Given the description of an element on the screen output the (x, y) to click on. 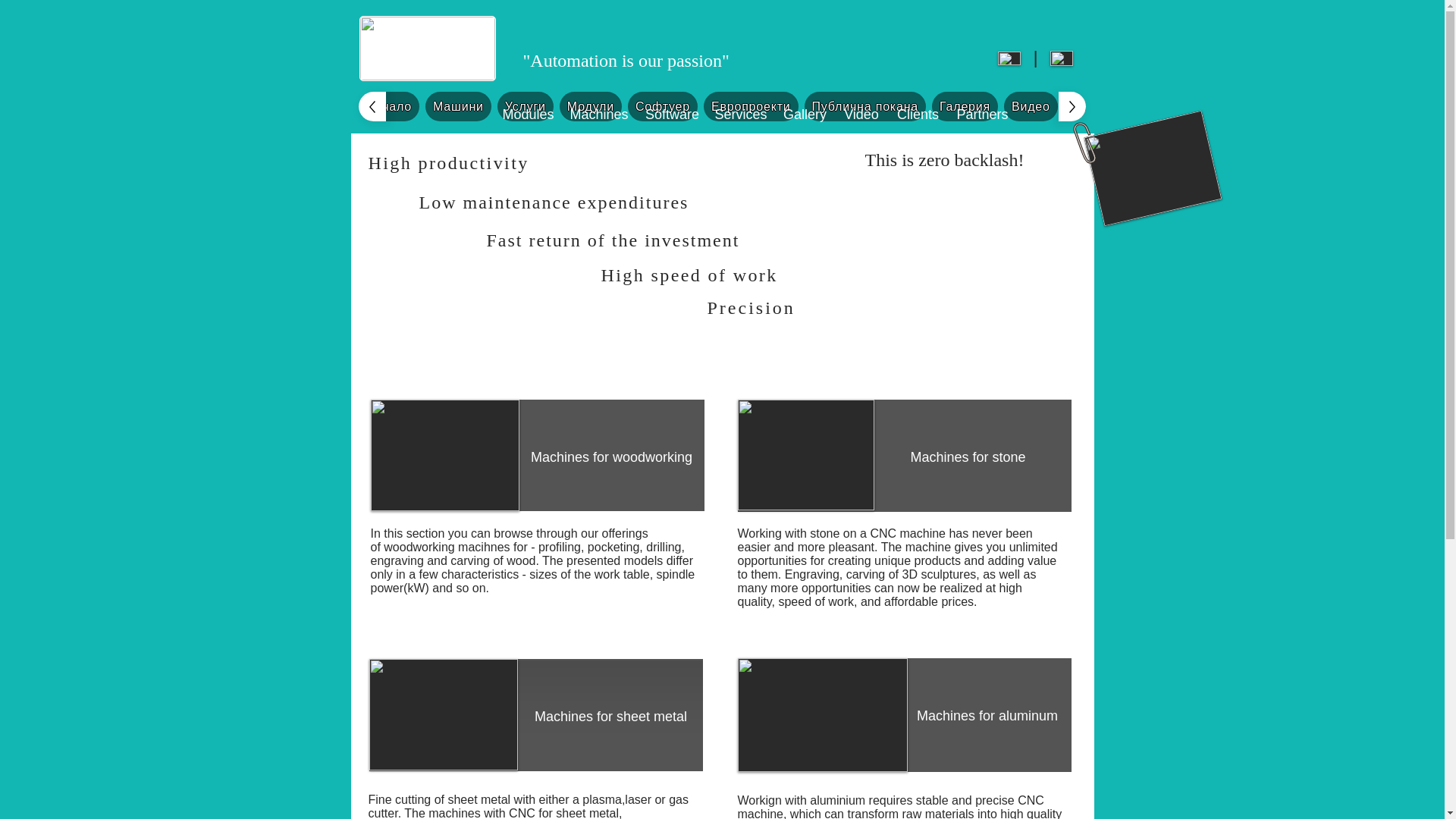
External YouTube (956, 270)
Home (1386, 106)
DSC01558.JPG (804, 454)
